Given the description of an element on the screen output the (x, y) to click on. 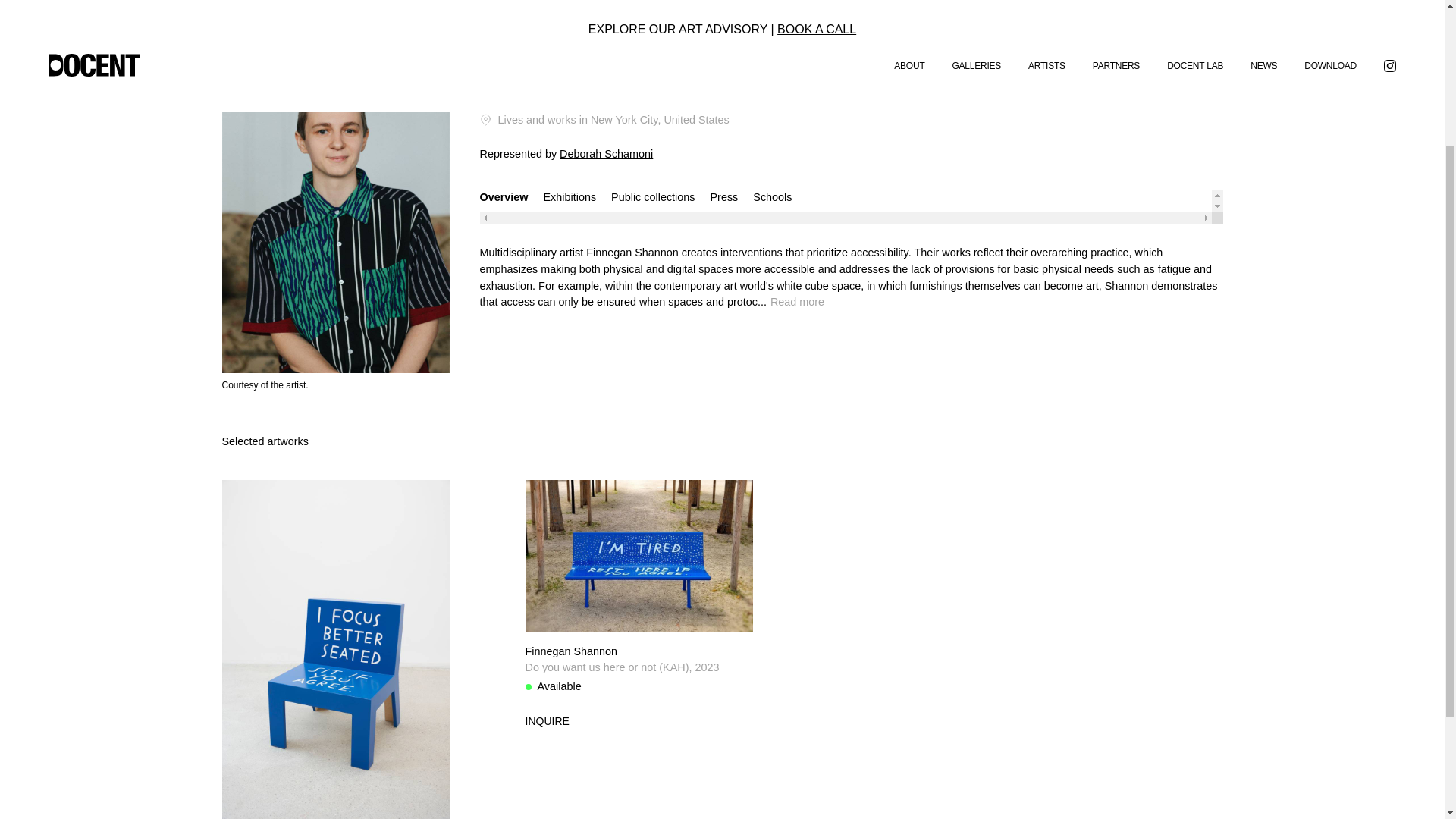
Deborah Schamoni (605, 153)
